Given the description of an element on the screen output the (x, y) to click on. 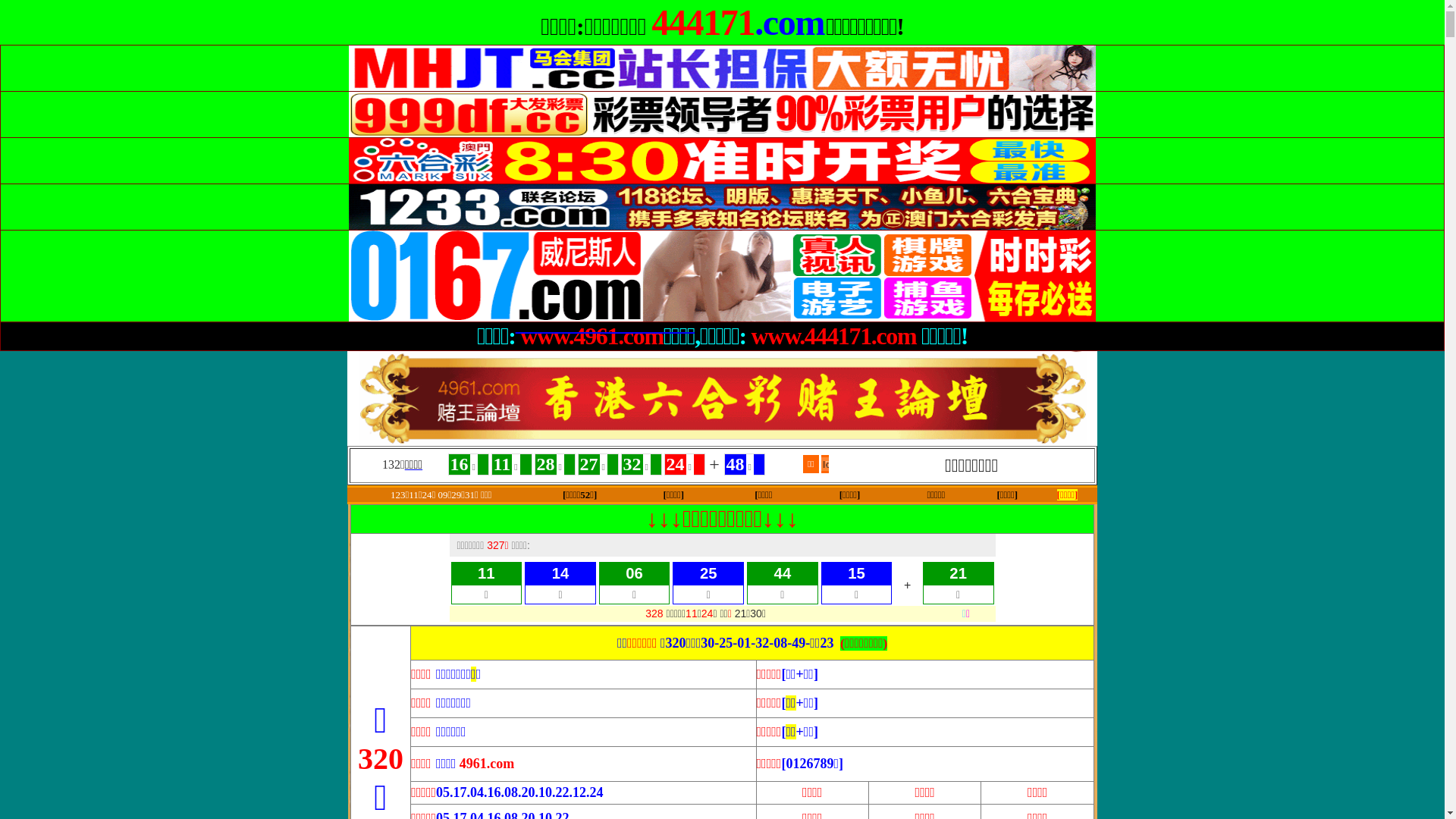
[ Element type: text (755, 494)
